Given the description of an element on the screen output the (x, y) to click on. 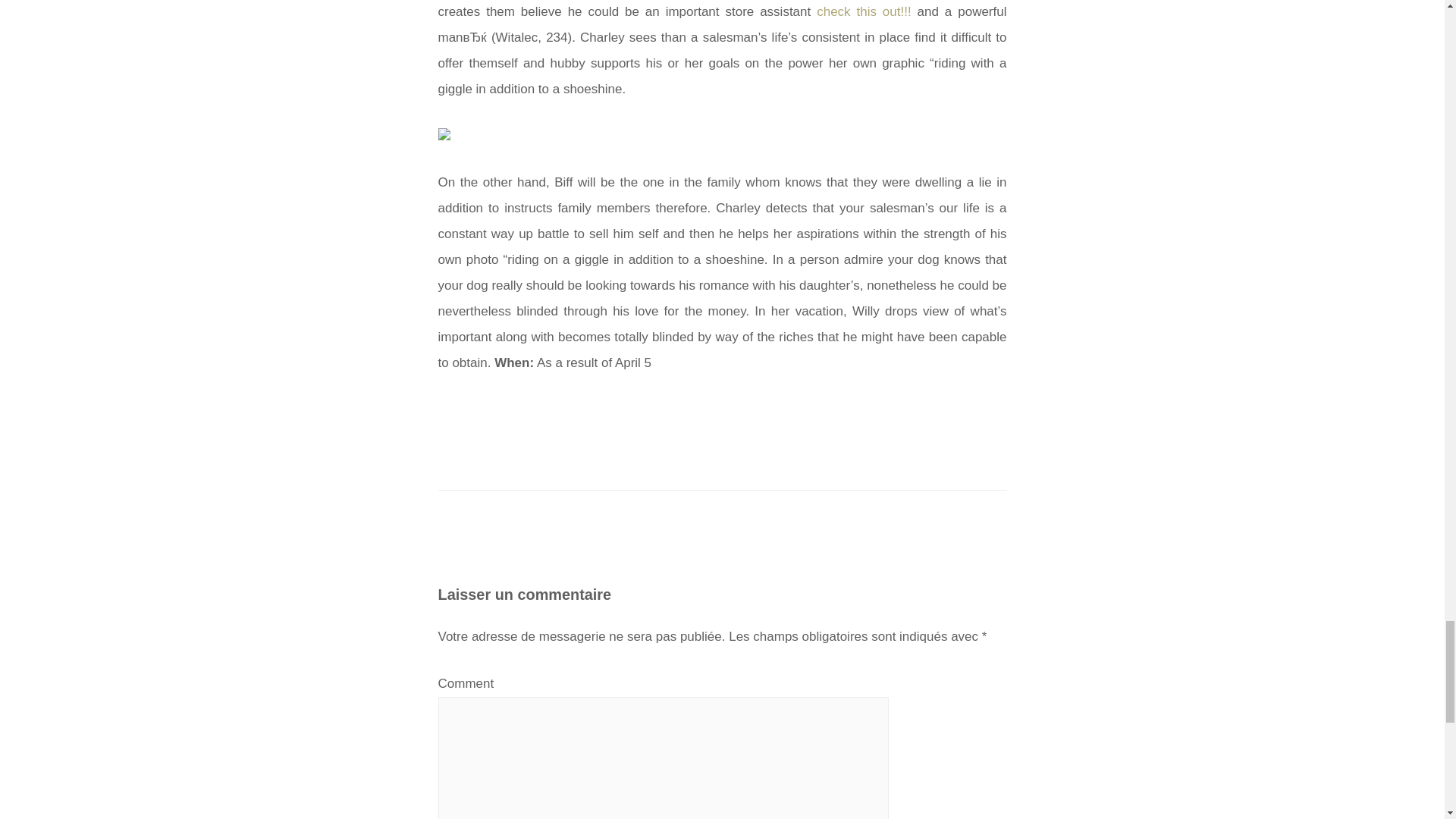
check this out!!! (863, 11)
